Given the description of an element on the screen output the (x, y) to click on. 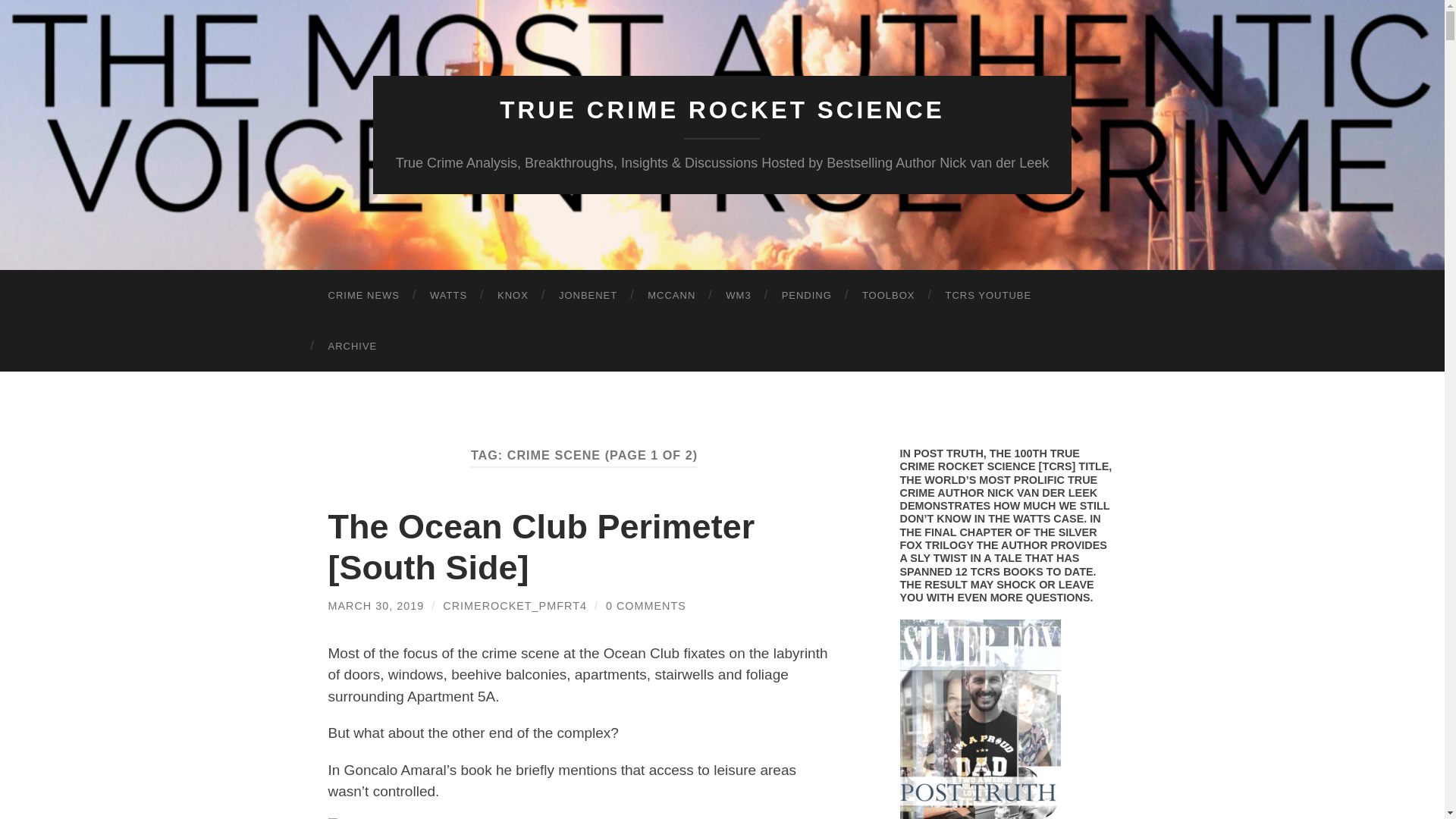
TOOLBOX (888, 295)
TCRS YOUTUBE (988, 295)
MARCH 30, 2019 (375, 605)
TRUE CRIME ROCKET SCIENCE (721, 109)
WATTS (447, 295)
PENDING (807, 295)
CRIME NEWS (363, 295)
ARCHIVE (352, 346)
MCCANN (670, 295)
0 COMMENTS (645, 605)
JONBENET (587, 295)
KNOX (512, 295)
WM3 (737, 295)
